Given the description of an element on the screen output the (x, y) to click on. 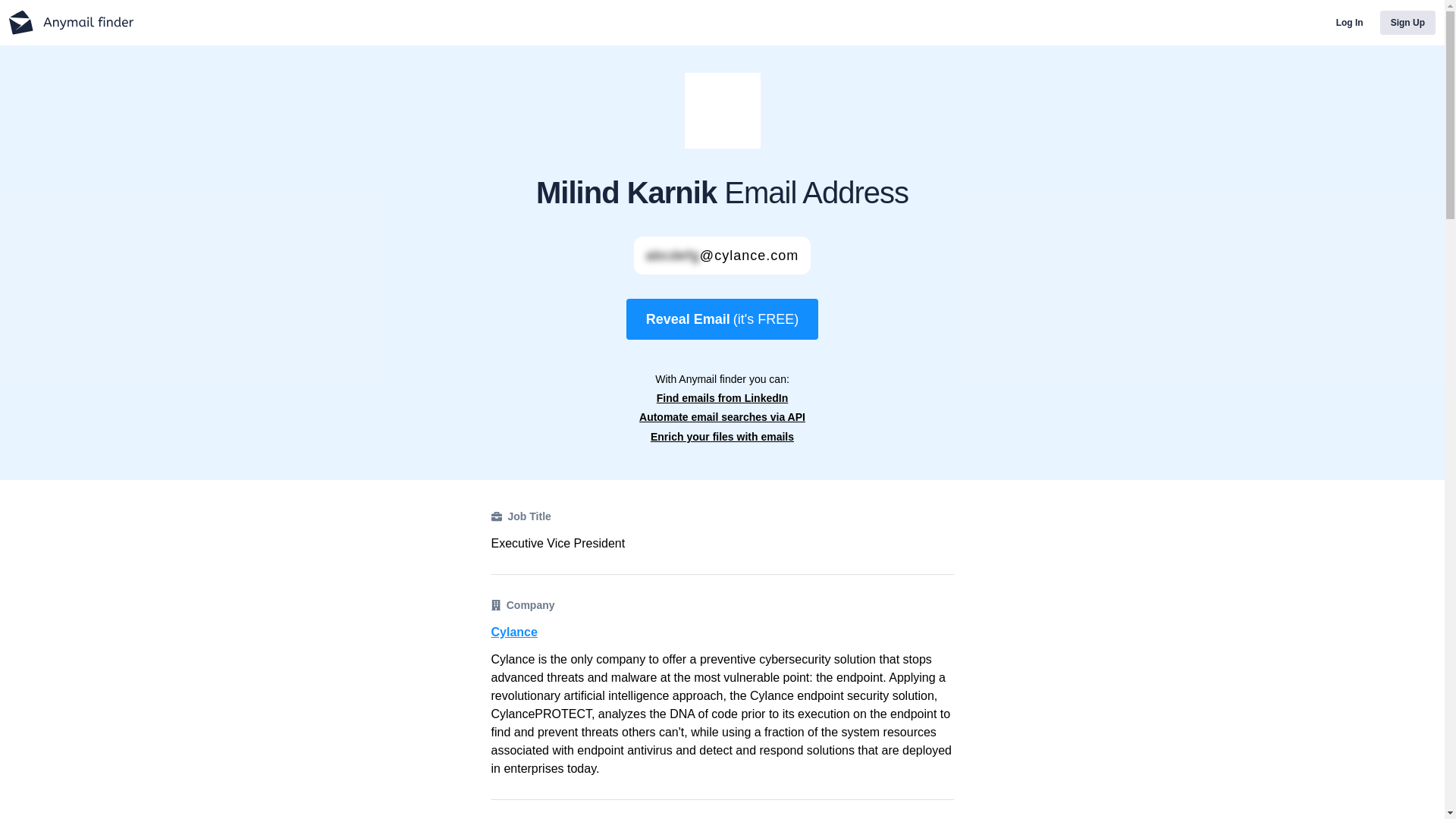
Enrich your files with emails (721, 436)
Sign Up (1407, 22)
Automate email searches via API (722, 417)
Cylance (722, 632)
Log In (1349, 22)
Find emails from LinkedIn (721, 398)
